Given the description of an element on the screen output the (x, y) to click on. 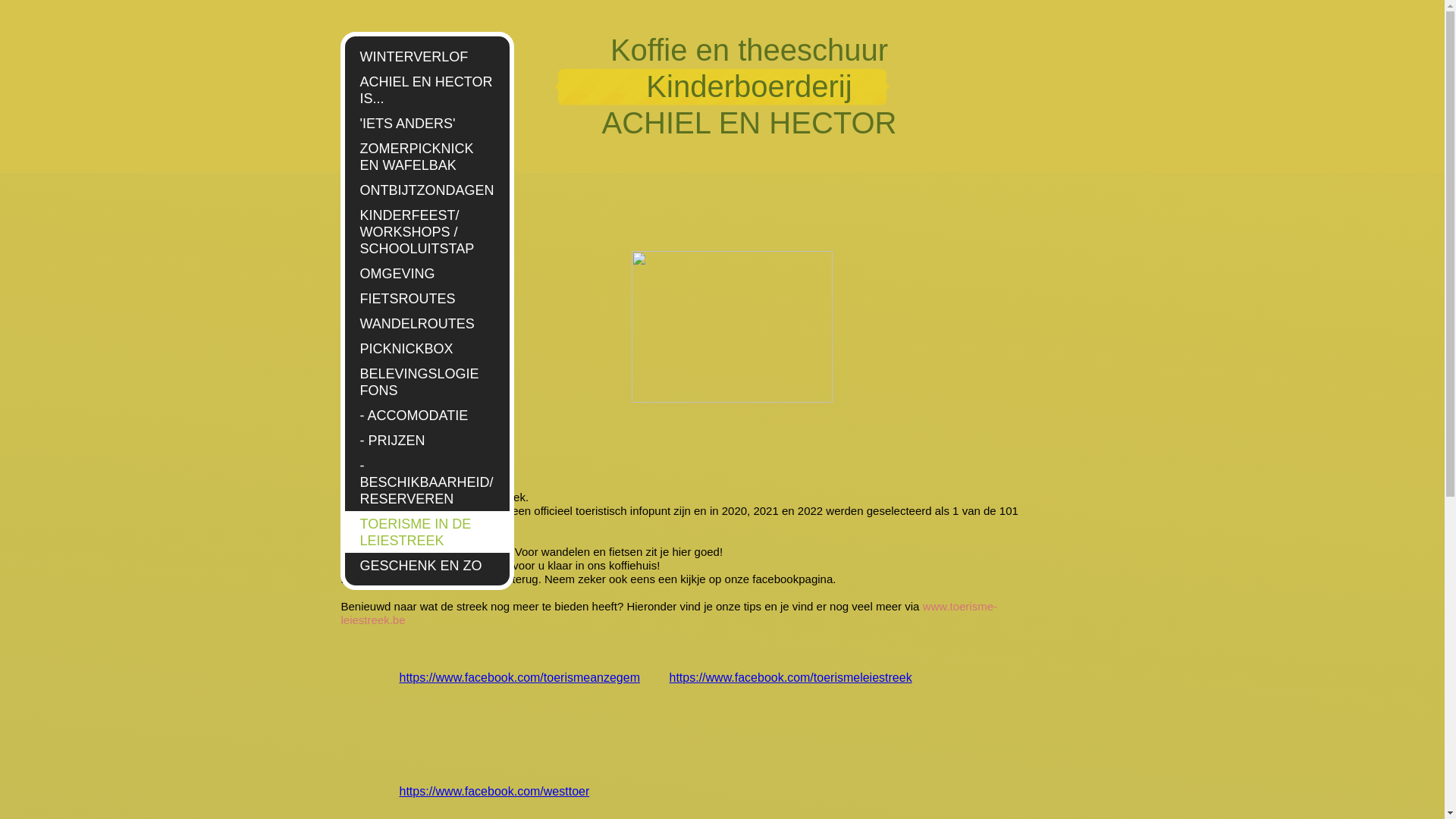
- ACCOMODATIE Element type: text (426, 414)
www.toerisme-leiestreek.be Element type: text (669, 612)
- PRIJZEN Element type: text (426, 439)
PICKNICKBOX Element type: text (426, 347)
https://www.facebook.com/toerismeanzegem Element type: text (518, 677)
WINTERVERLOF Element type: text (426, 56)
BELEVINGSLOGIE FONS Element type: text (426, 381)
'IETS ANDERS' Element type: text (426, 122)
WANDELROUTES Element type: text (426, 322)
https://www.facebook.com/toerismeleiestreek Element type: text (789, 677)
FIETSROUTES Element type: text (426, 297)
TOERISME IN DE LEIESTREEK Element type: text (426, 531)
ZOMERPICKNICK EN WAFELBAK Element type: text (426, 156)
OMGEVING Element type: text (426, 272)
https://www.facebook.com/westtoer Element type: text (493, 790)
ACHIEL EN HECTOR IS... Element type: text (426, 89)
GESCHENK EN ZO Element type: text (426, 564)
- BESCHIKBAARHEID/ RESERVEREN Element type: text (426, 481)
ONTBIJTZONDAGEN Element type: text (426, 189)
KINDERFEEST/ WORKSHOPS / SCHOOLUITSTAP Element type: text (426, 231)
